Given the description of an element on the screen output the (x, y) to click on. 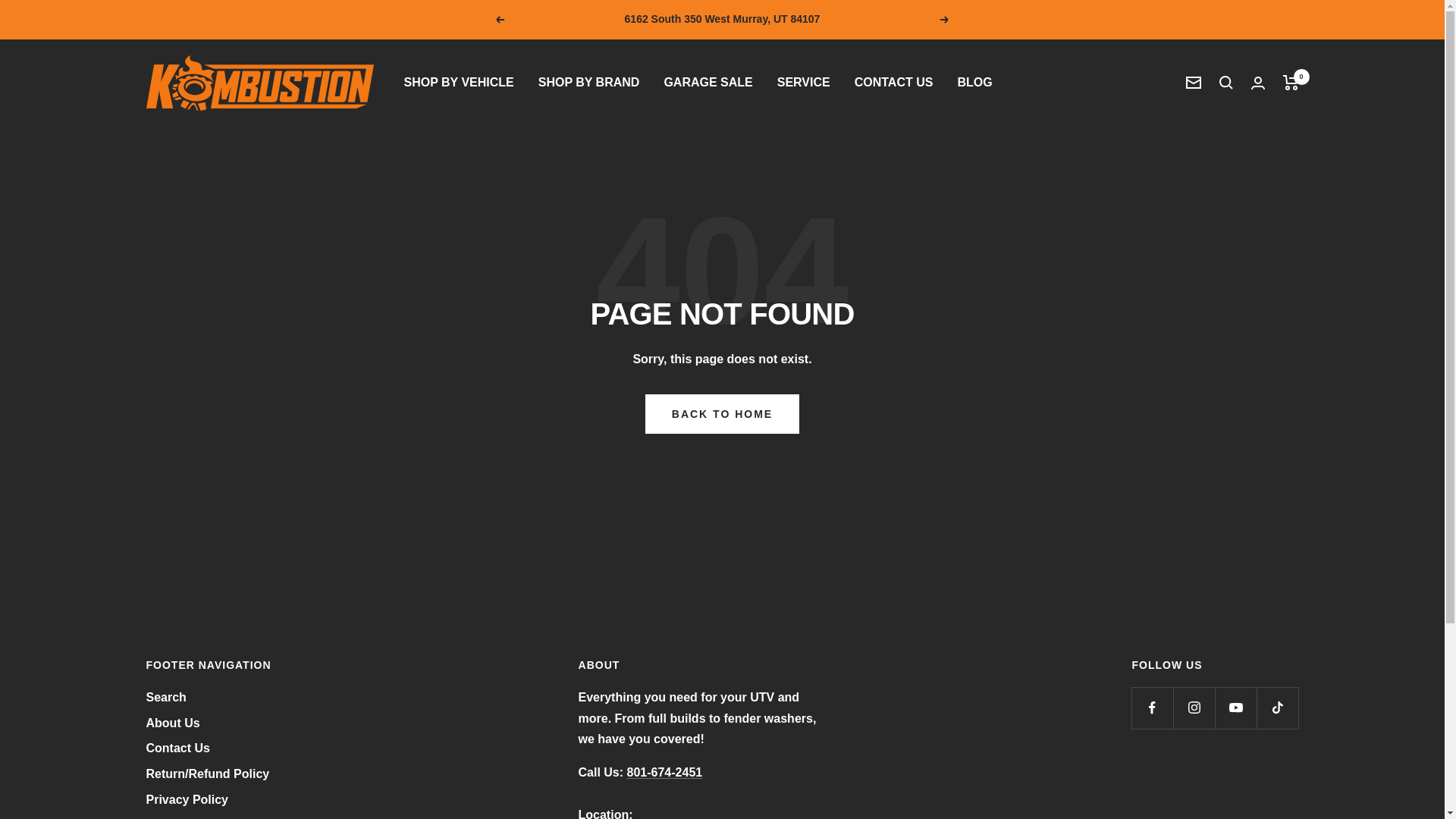
tel:8016742451 (665, 771)
CONTACT US (893, 82)
GARAGE SALE (707, 82)
LOG INTO ACCOUNT (206, 816)
SHOP BY BRAND (589, 82)
Privacy Policy (186, 799)
0 (1290, 82)
801-674-2451 (665, 771)
BACK TO HOME (722, 413)
SHOP BY VEHICLE (458, 82)
BLOG (973, 82)
AF (148, 702)
Previous (499, 19)
SERVICE (803, 82)
Newsletter (1193, 82)
